Given the description of an element on the screen output the (x, y) to click on. 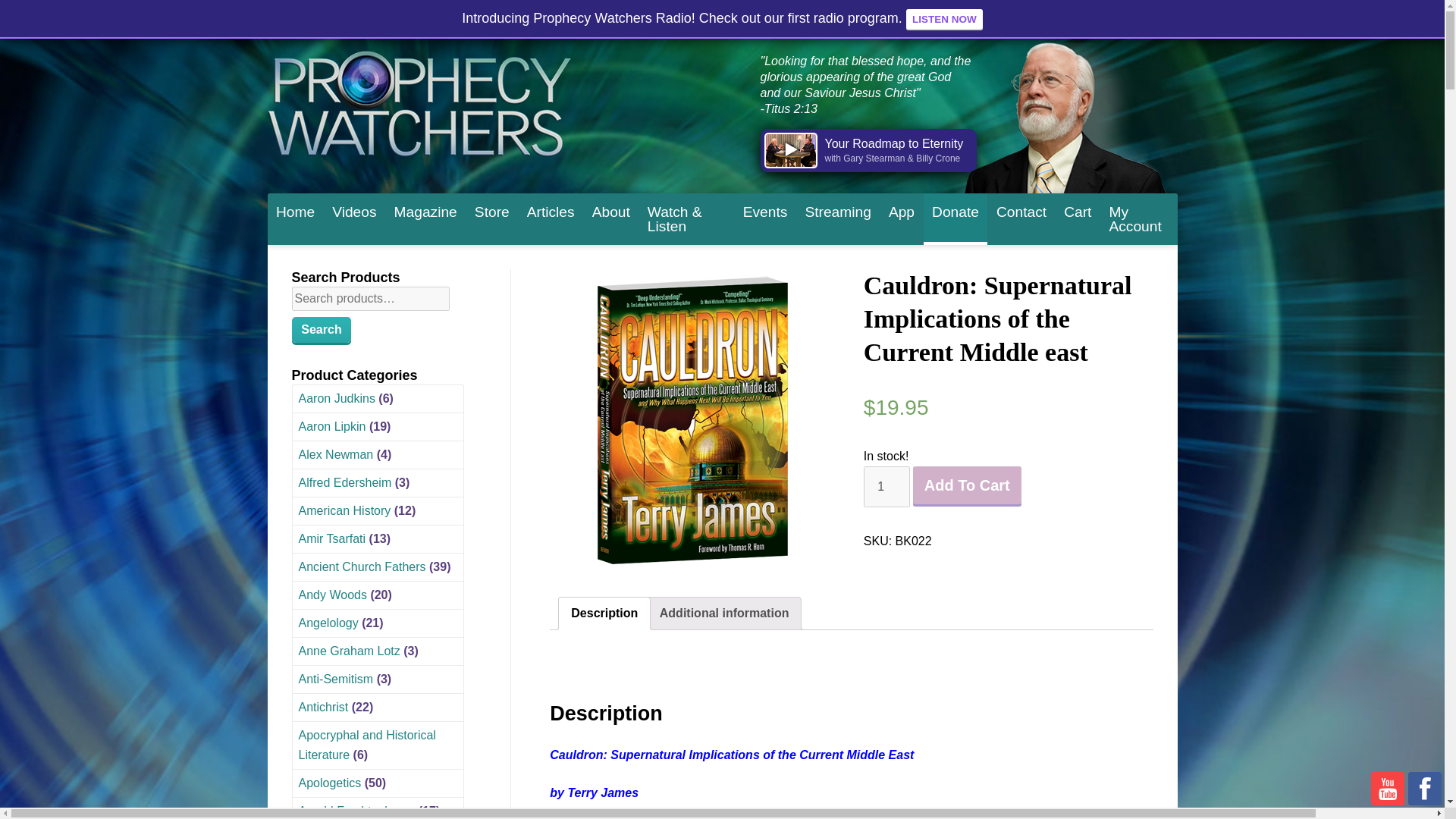
Streaming Video (837, 211)
Articles (550, 211)
Videos (354, 211)
Magazine (425, 211)
1 (886, 486)
LISTEN NOW (943, 19)
Home (294, 211)
Store (491, 211)
Watch and Listen (686, 218)
Upcoming Events (764, 211)
About (611, 211)
The Prophecy Watchers (418, 101)
Qty (886, 486)
Store (491, 211)
